Given the description of an element on the screen output the (x, y) to click on. 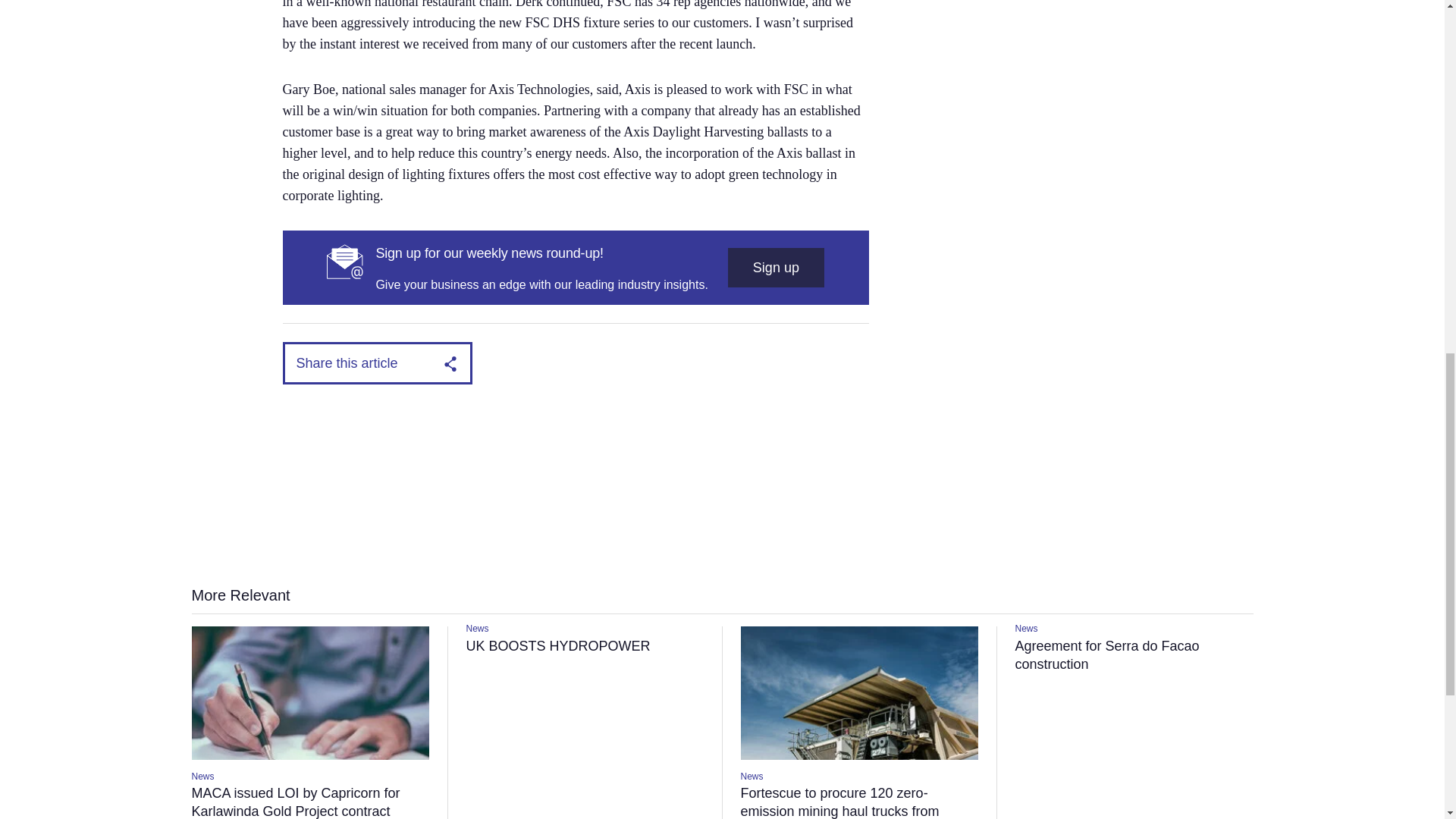
on (738, 315)
on (606, 315)
on (473, 315)
